Given the description of an element on the screen output the (x, y) to click on. 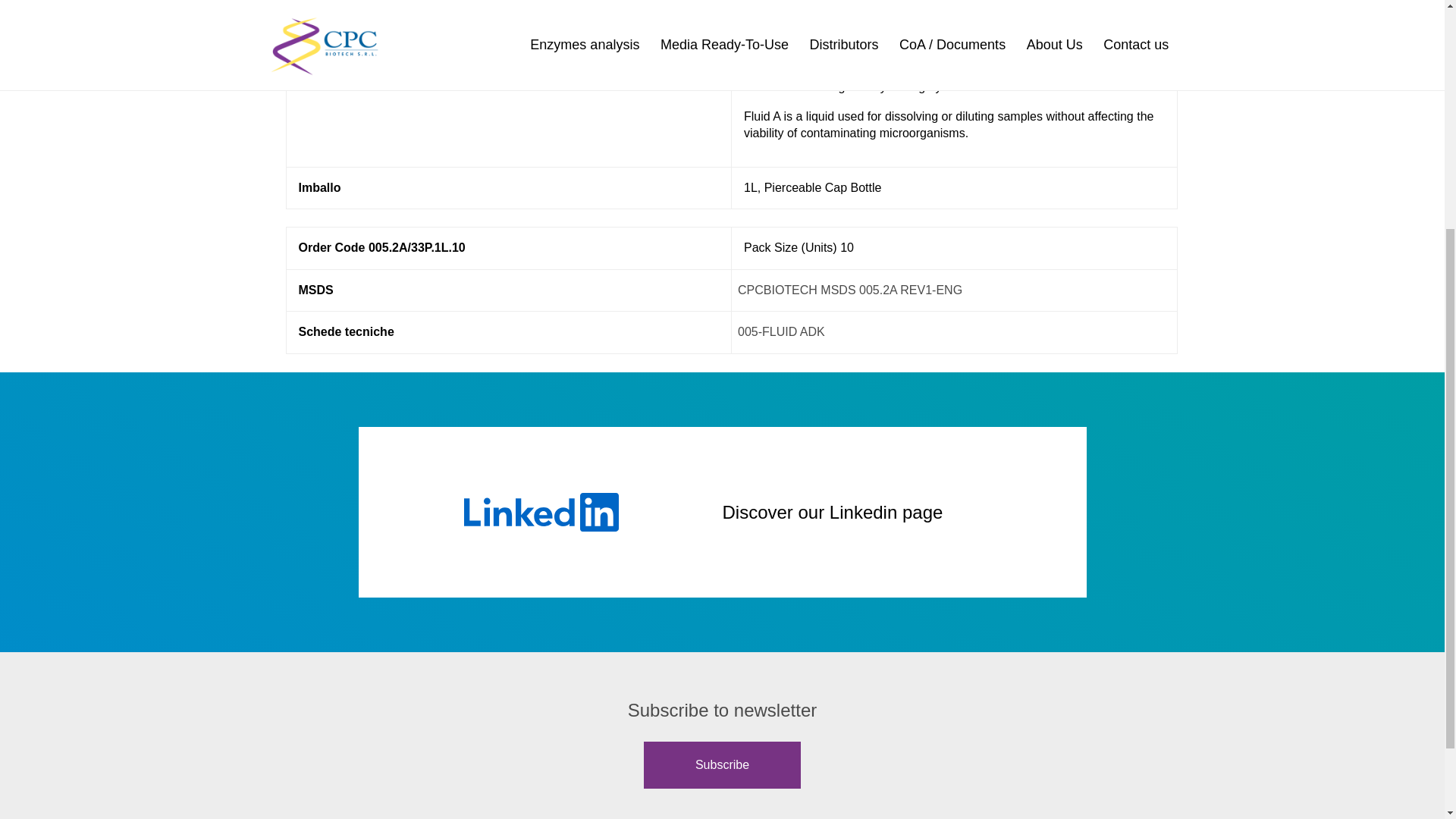
Subscribe (721, 765)
005-FLUID ADK (781, 331)
CPCBIOTECH MSDS 005.2A REV1-ENG (850, 289)
Discover our Linkedin page (722, 512)
